Given the description of an element on the screen output the (x, y) to click on. 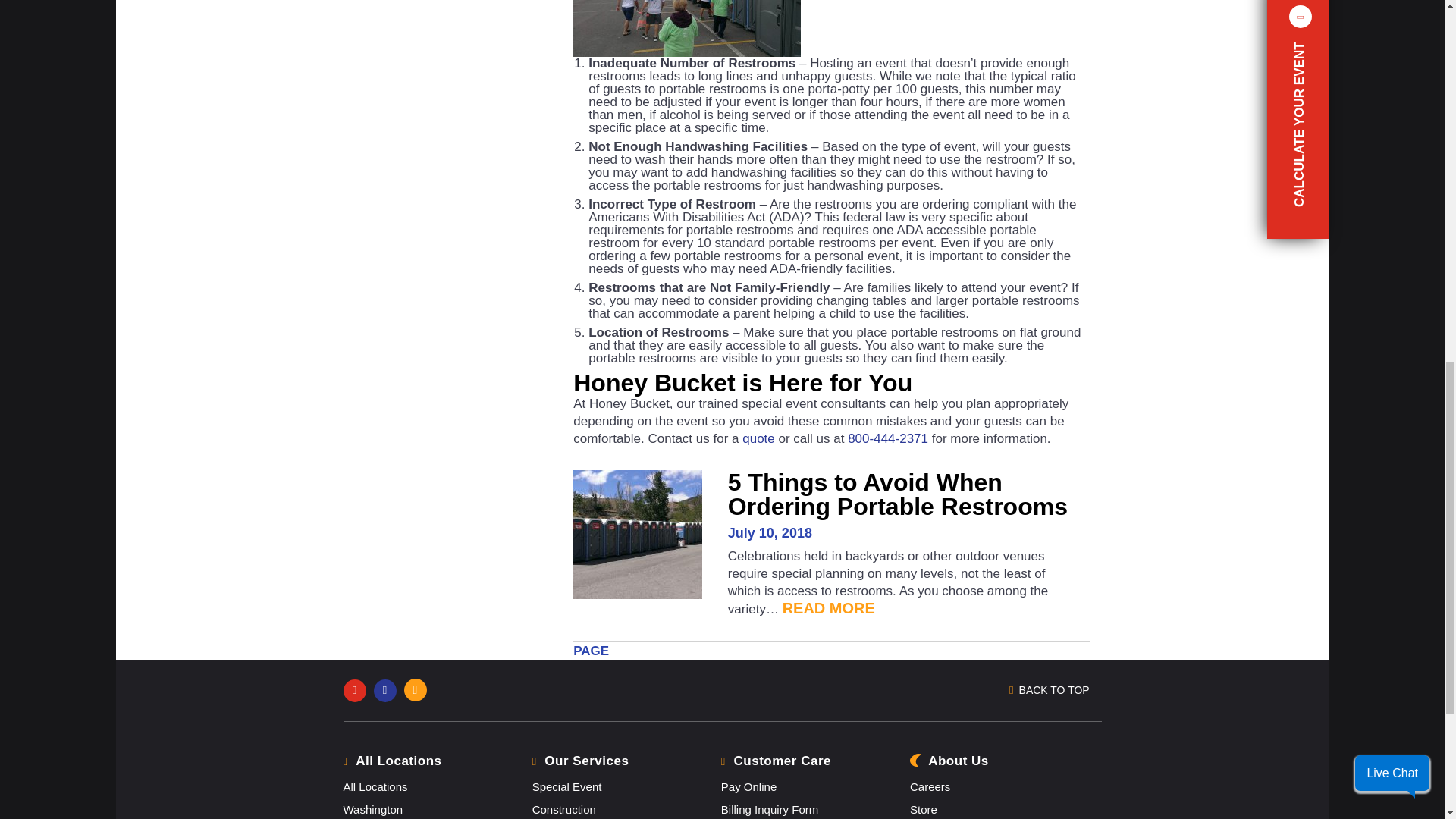
Twitter (387, 689)
BACK TO TOP (1054, 690)
BACK TO TOP (903, 690)
Instagram (418, 689)
Facebook (357, 689)
